Given the description of an element on the screen output the (x, y) to click on. 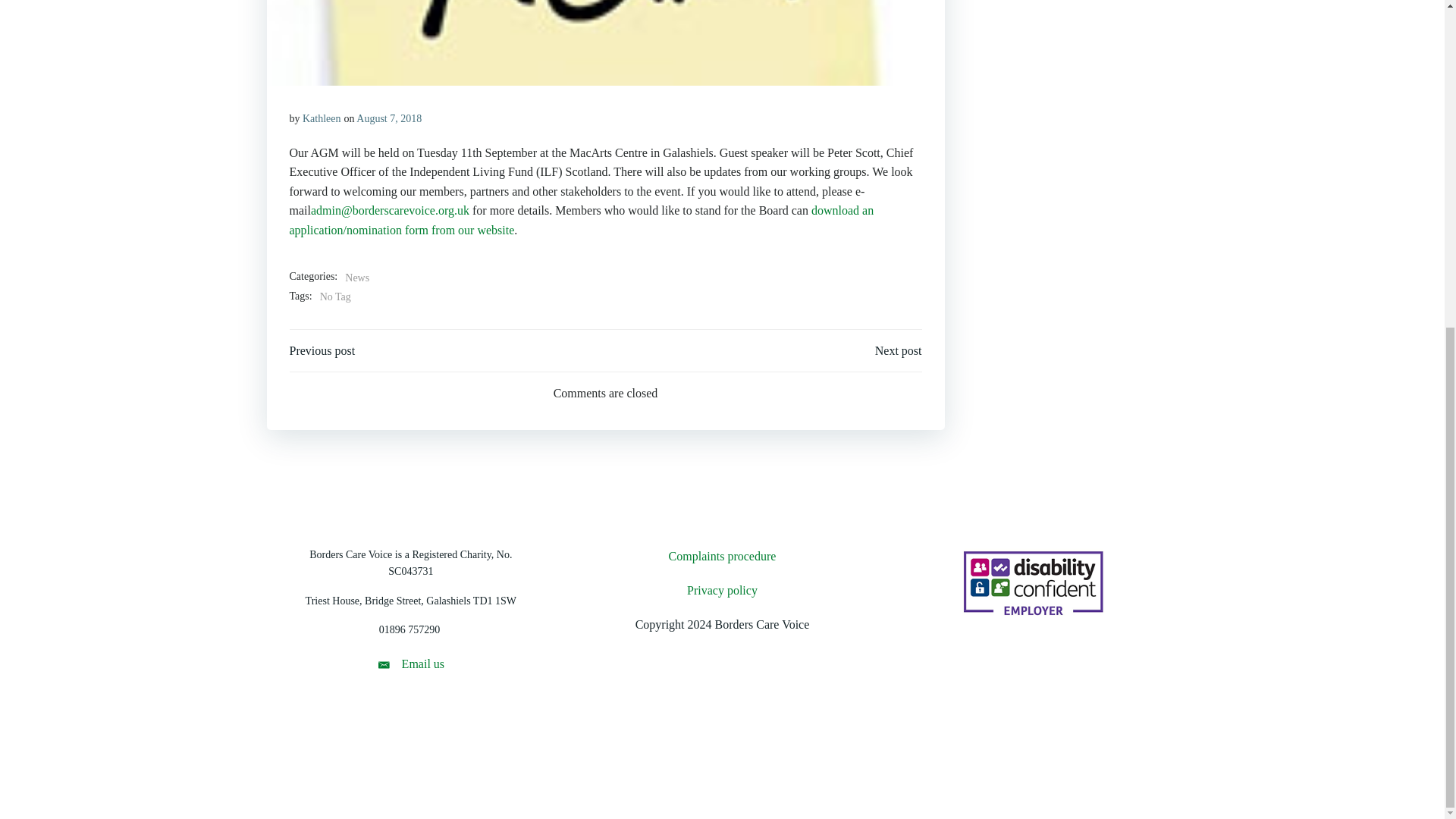
Complaints procedure (722, 556)
Next post (898, 351)
Privacy policy (722, 590)
Previous post (322, 351)
Email us (410, 664)
News (357, 278)
August 7, 2018 (389, 118)
Kathleen (321, 118)
